Given the description of an element on the screen output the (x, y) to click on. 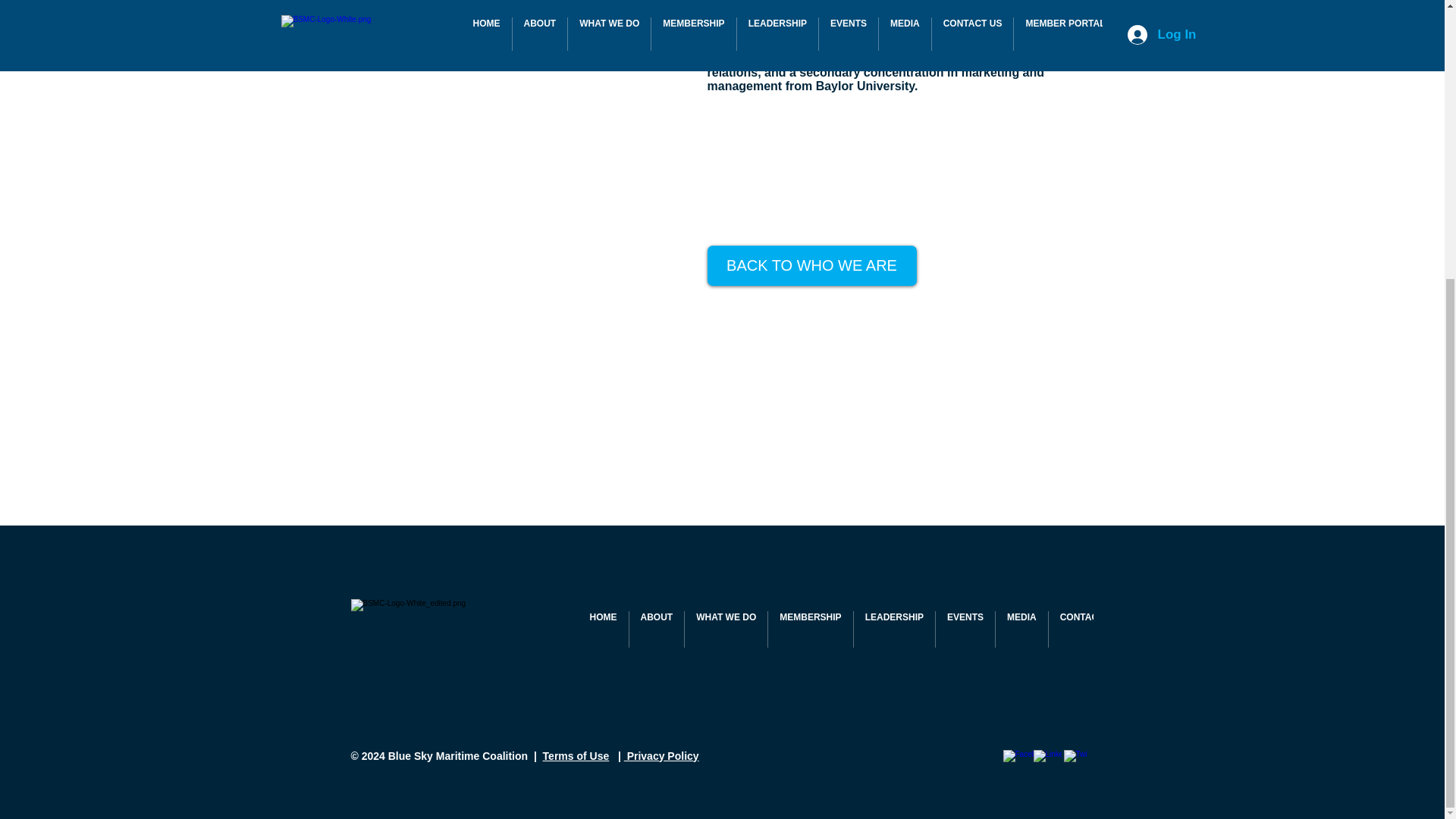
LEADERSHIP (893, 628)
HOME (602, 628)
MEMBERSHIP (809, 628)
EVENTS (965, 628)
WHAT WE DO (725, 628)
MEDIA (1021, 628)
BACK TO WHO WE ARE (810, 265)
ABOUT (656, 628)
